Given the description of an element on the screen output the (x, y) to click on. 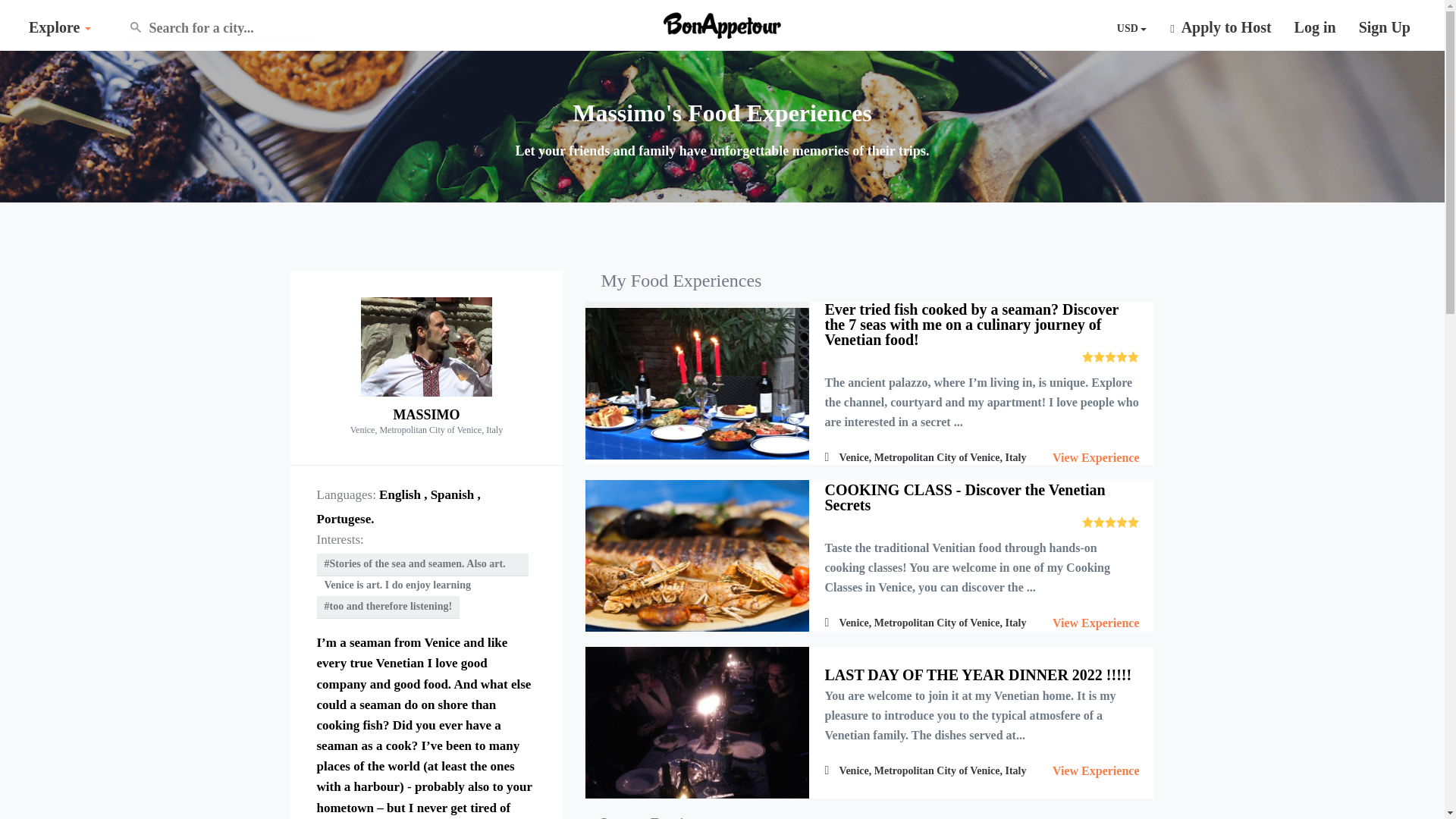
Apply to Host (1220, 26)
COOKING CLASS - Discover the Venetian Secrets (964, 497)
View Experience (1095, 458)
Sign Up (1384, 26)
LAST DAY OF THE YEAR DINNER 2022 !!!!! (977, 674)
USD (1132, 28)
View Experience (1095, 771)
View Experience (1095, 622)
Explore (59, 26)
Log in (1315, 26)
